Given the description of an element on the screen output the (x, y) to click on. 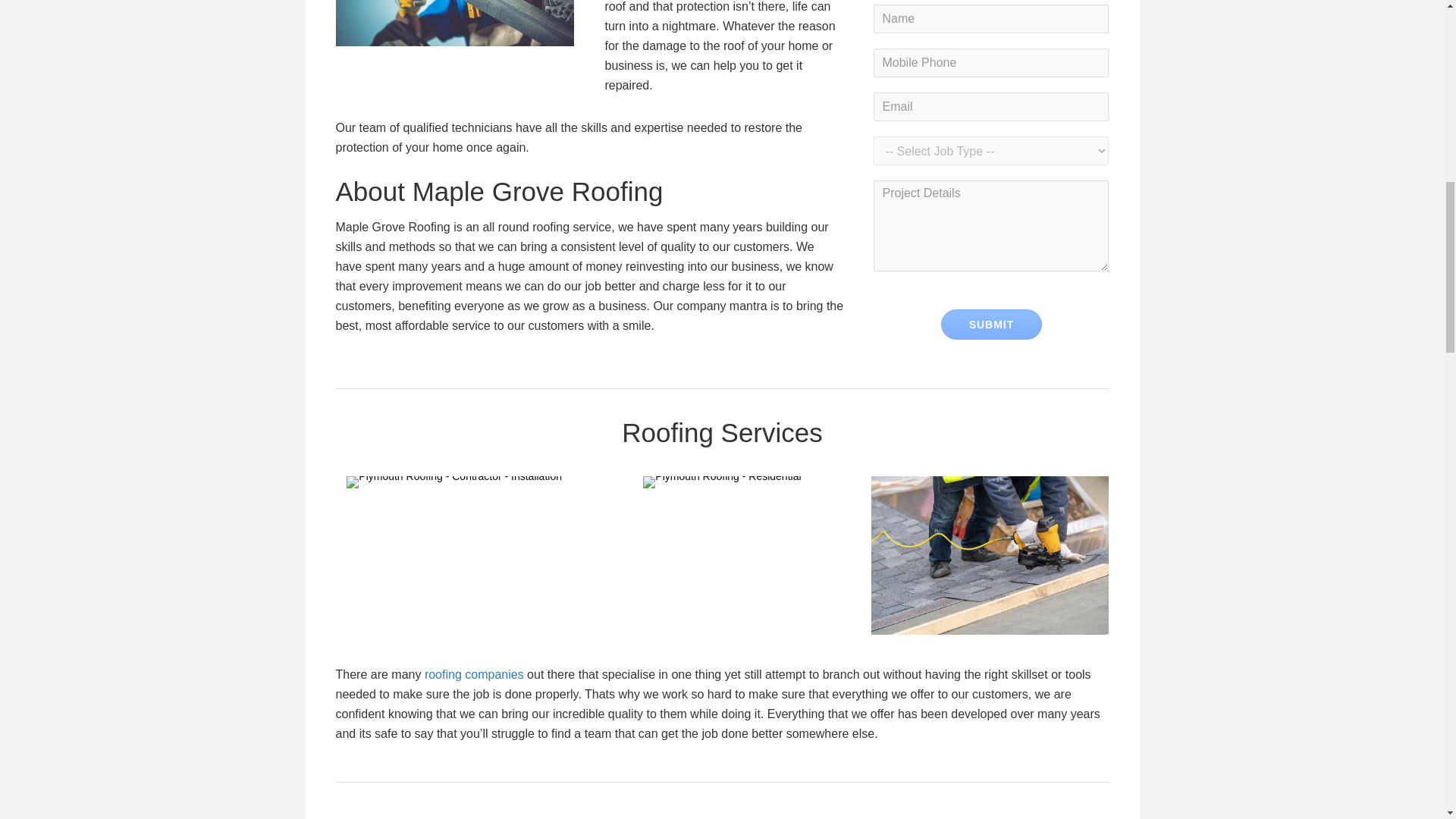
Plymouth Roofing - Residential (721, 481)
SUBMIT (991, 324)
Plymouth Roofing - Contractor - Installation (454, 481)
Plymouth Roofing - Contractor (453, 22)
Plymouth Roofing - Contractor - Commercial (989, 554)
roofing companies (474, 674)
